Given the description of an element on the screen output the (x, y) to click on. 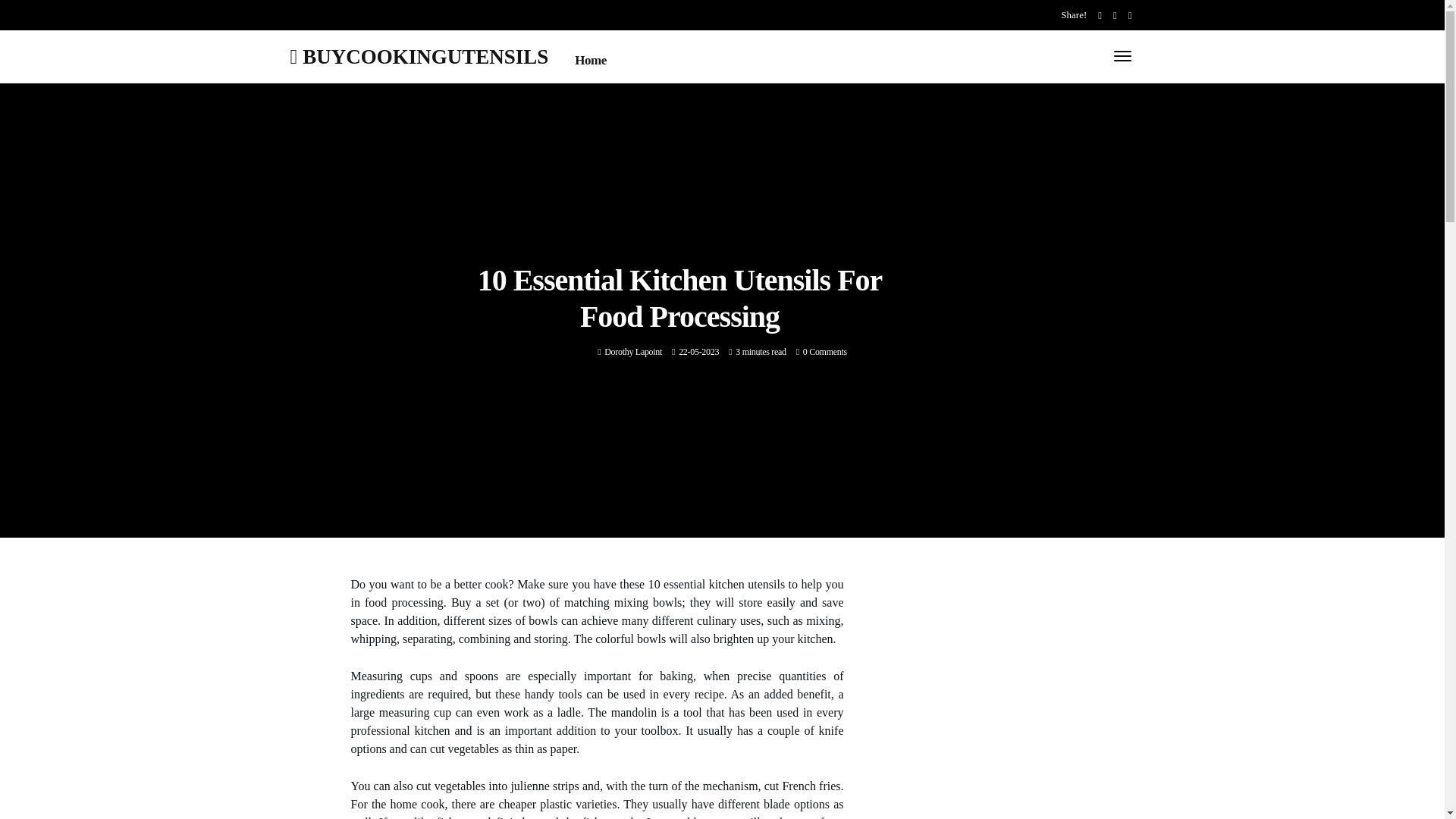
0 Comments (825, 351)
Posts by Dorothy Lapoint (633, 351)
Dorothy Lapoint (633, 351)
BUYCOOKINGUTENSILS (418, 56)
